Given the description of an element on the screen output the (x, y) to click on. 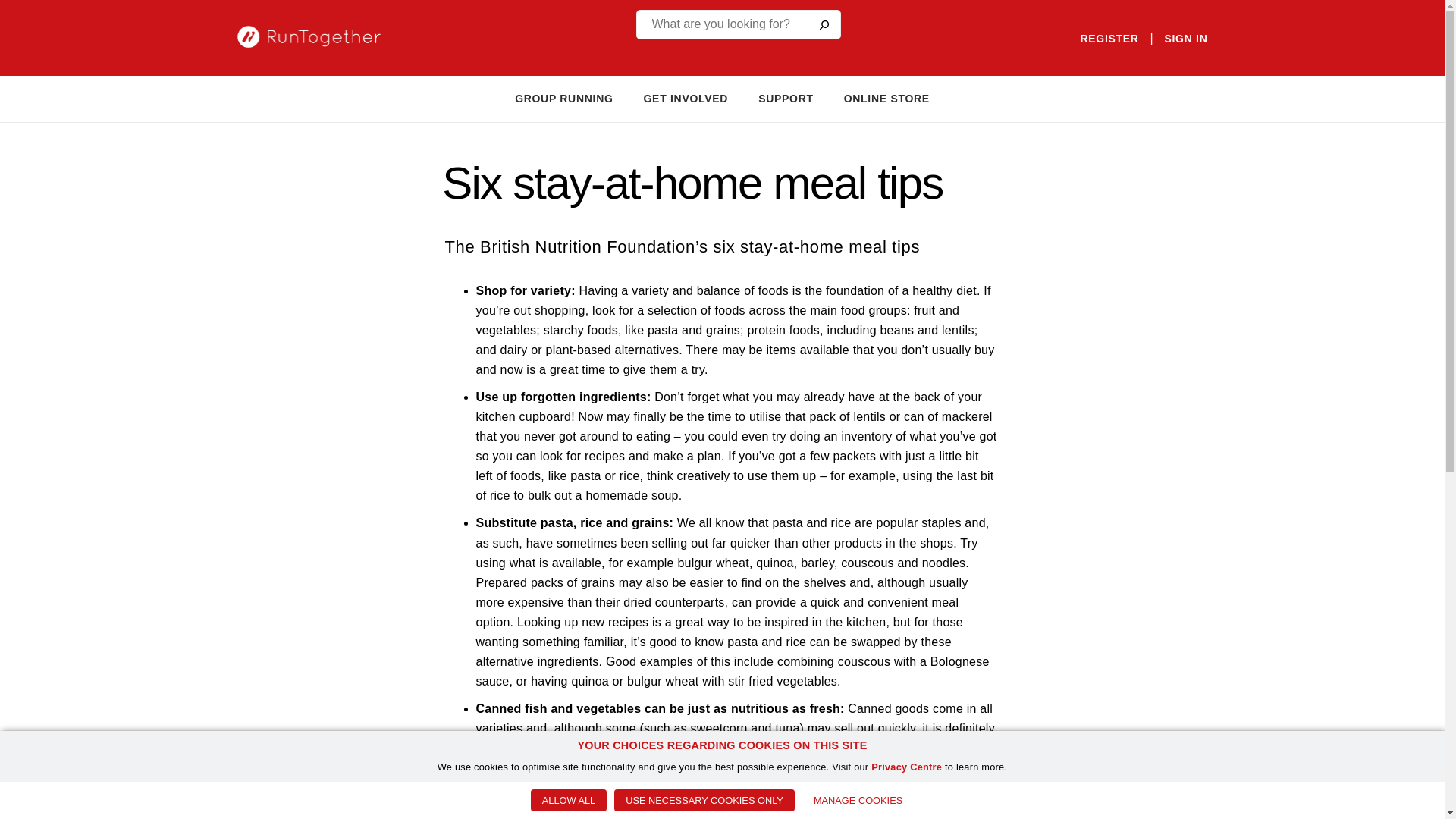
GET INVOLVED (686, 99)
Go (823, 24)
GROUP RUNNING (563, 99)
RunTogether (319, 35)
MANAGE COOKIES (858, 800)
SUPPORT (785, 99)
SIGN IN (1185, 39)
REGISTER (1109, 39)
